Given the description of an element on the screen output the (x, y) to click on. 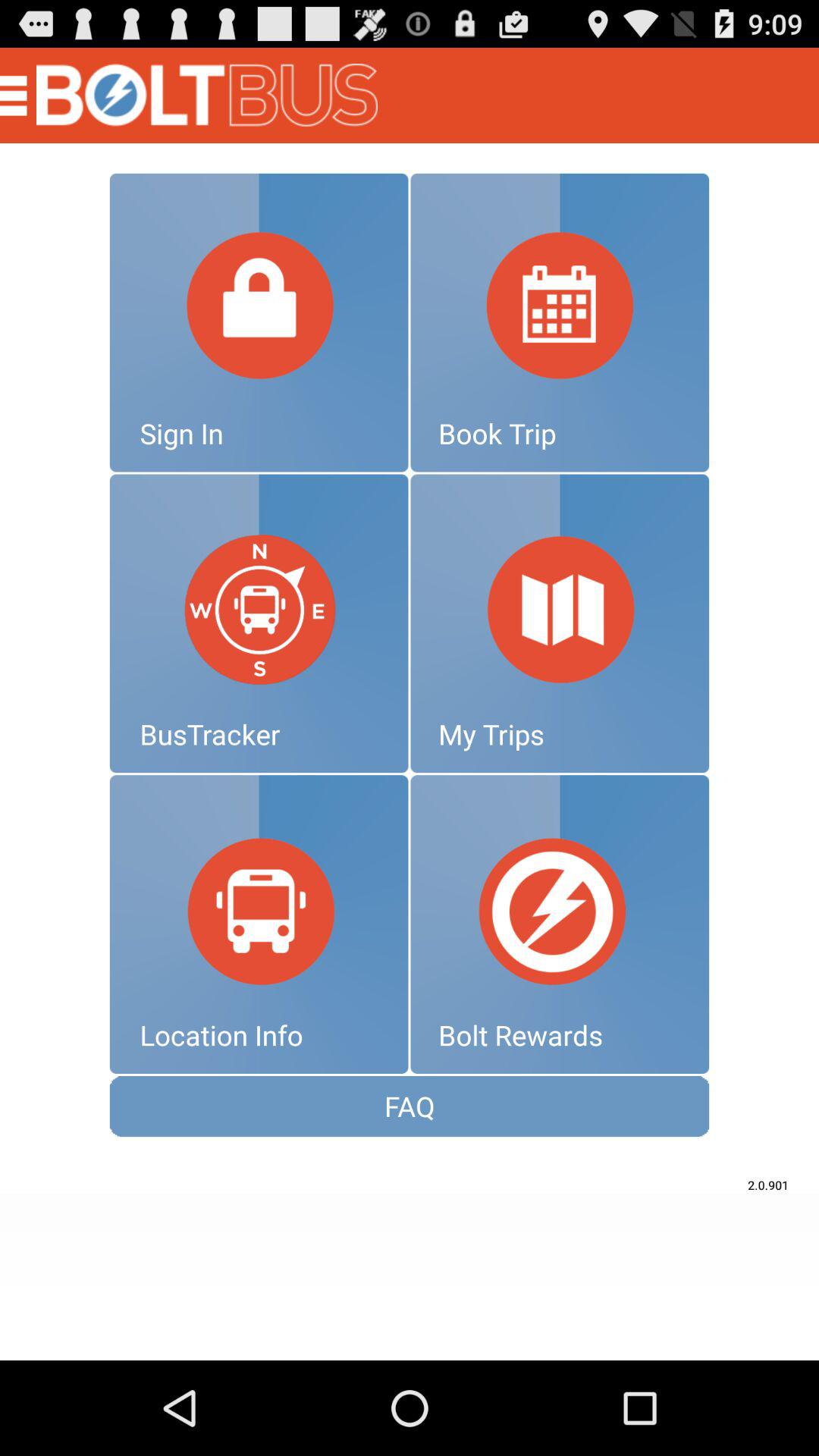
my trips section (559, 623)
